Given the description of an element on the screen output the (x, y) to click on. 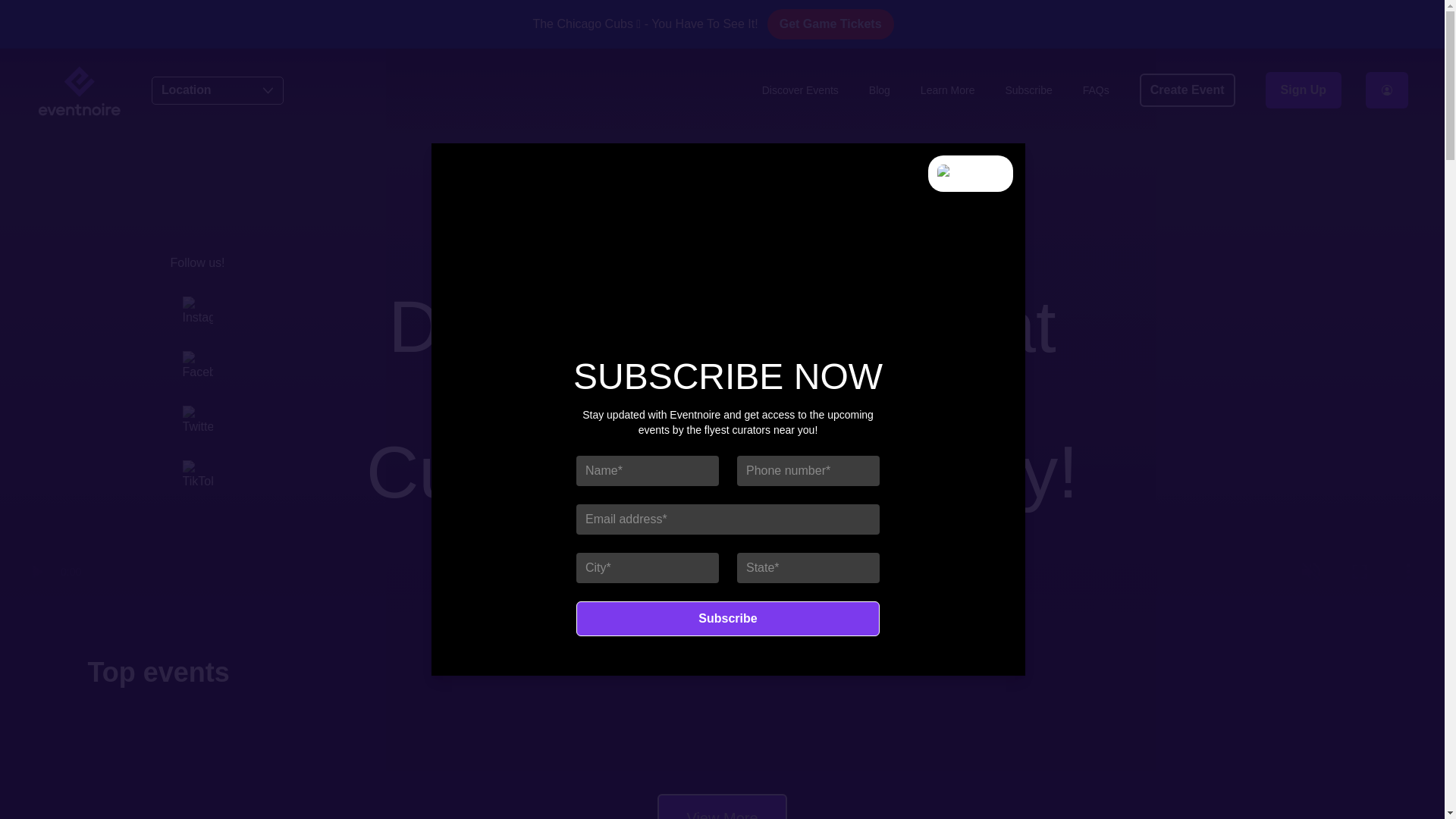
Learn More (947, 89)
Get Game Tickets (830, 24)
FAQs (1096, 89)
Location (217, 90)
Subscribe (727, 618)
Find your next event (721, 560)
Subscribe (1027, 89)
Subscribe (727, 618)
Discover Events (799, 89)
View More (722, 806)
